Given the description of an element on the screen output the (x, y) to click on. 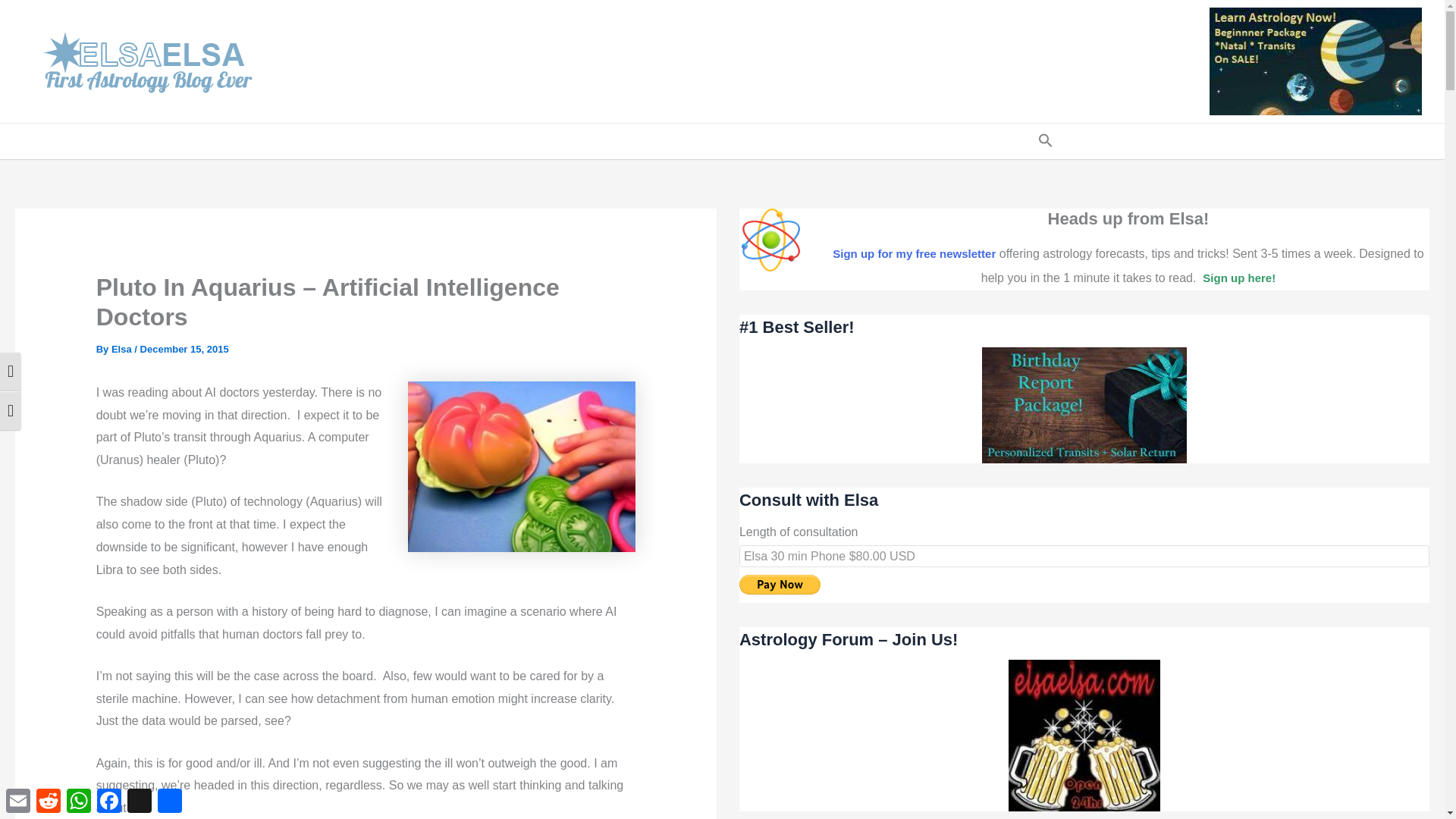
Contact (892, 140)
Explore (961, 140)
Blog (416, 140)
Forum (473, 140)
Videos (766, 140)
Consult (545, 140)
Shop (624, 140)
Calendar (695, 140)
About (827, 140)
Tip (1016, 140)
